Given the description of an element on the screen output the (x, y) to click on. 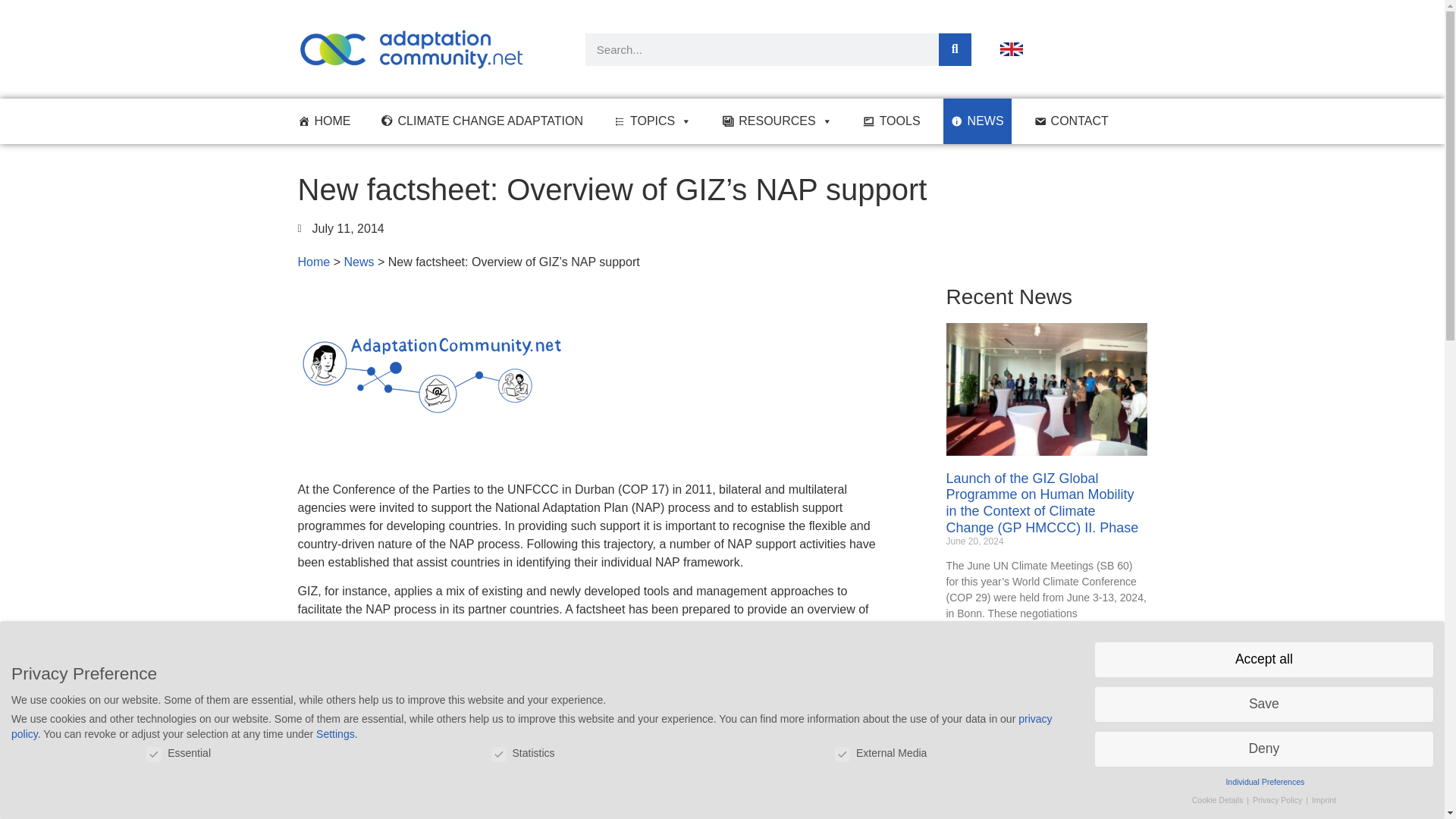
Home (313, 261)
TOOLS (892, 121)
Go to Adaptation Community. (313, 261)
factsheet (455, 626)
HOME (323, 121)
RESOURCES (777, 121)
CLIMATE CHANGE ADAPTATION (480, 121)
TOPICS (651, 121)
News (358, 261)
NEWS (977, 121)
CONTACT (1071, 121)
Go to the News category archives. (358, 261)
Factsheet on GIZ's NAP support (455, 626)
